Given the description of an element on the screen output the (x, y) to click on. 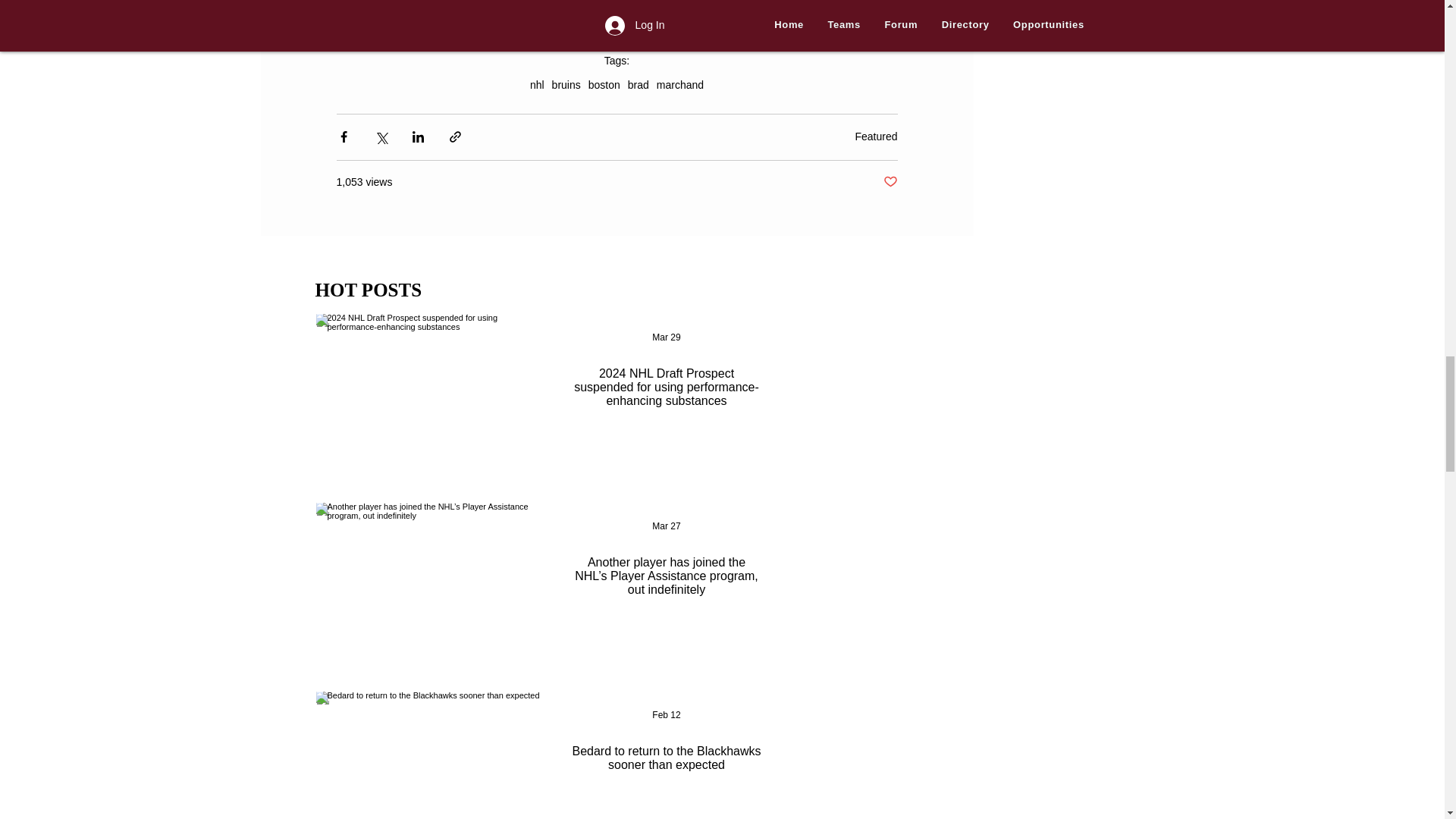
Feb 12 (665, 715)
Mar 29 (665, 337)
Mar 27 (665, 525)
